Given the description of an element on the screen output the (x, y) to click on. 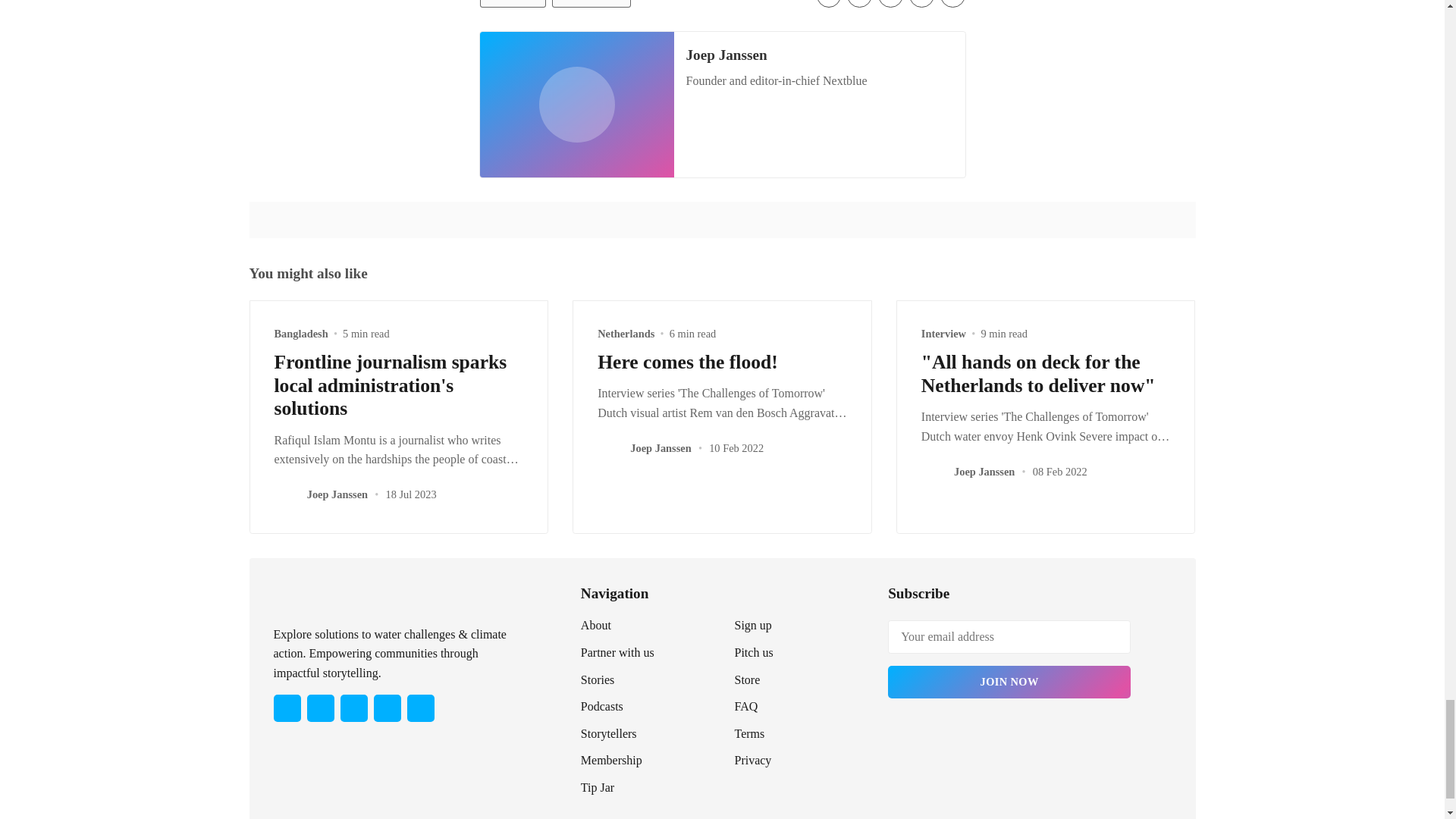
Share by email (921, 3)
Share on Linkedin (889, 3)
Share on Twitter (828, 3)
Share on Facebook (859, 3)
Copy to clipboard (952, 3)
Instagram (352, 707)
Facebook (319, 707)
Twitter (286, 707)
Website (723, 154)
Twitter (695, 154)
YouTube (386, 707)
